Given the description of an element on the screen output the (x, y) to click on. 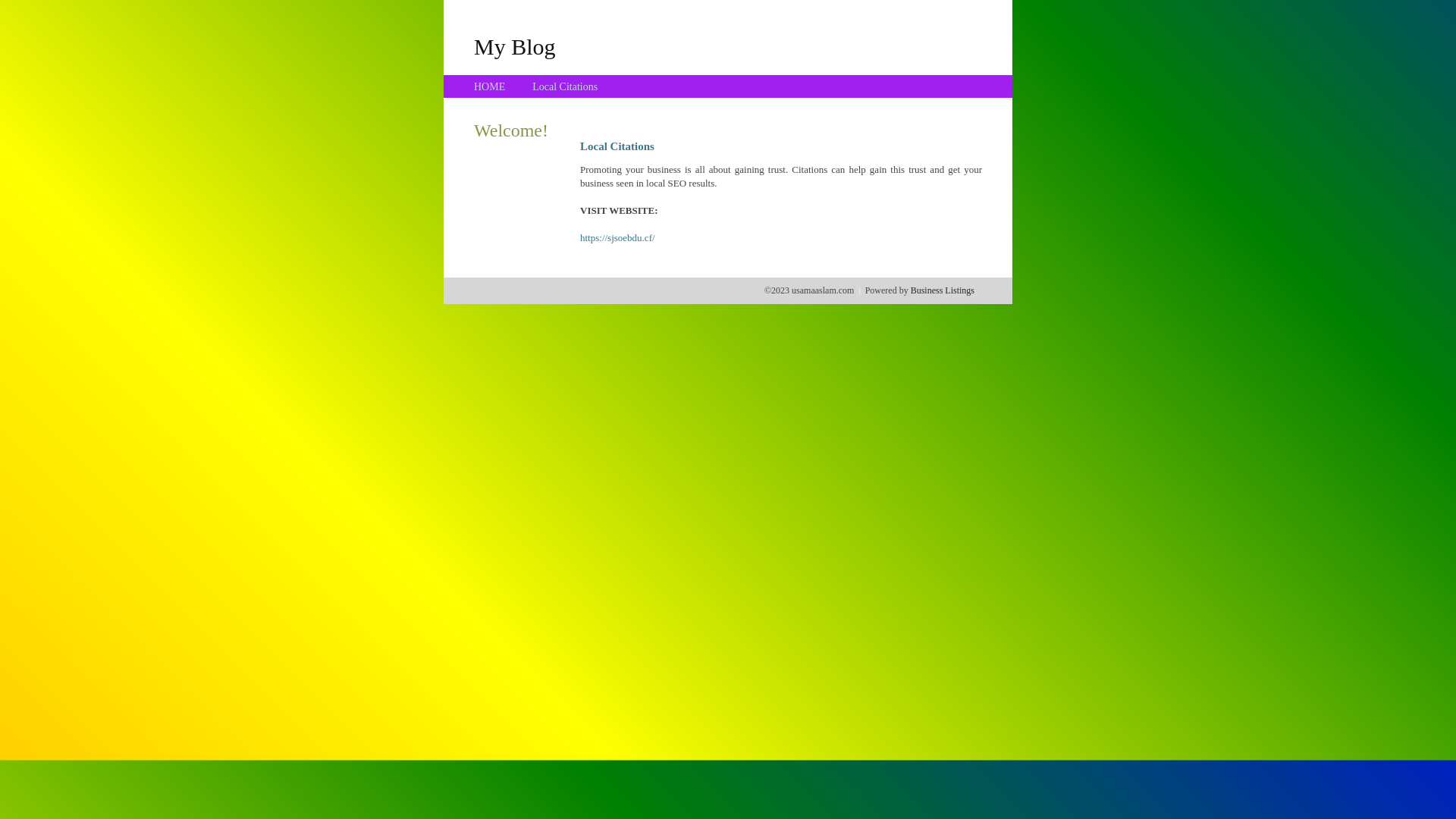
https://sjsoebdu.cf/ Element type: text (617, 237)
My Blog Element type: text (514, 46)
Business Listings Element type: text (942, 290)
HOME Element type: text (489, 86)
Local Citations Element type: text (564, 86)
